Given the description of an element on the screen output the (x, y) to click on. 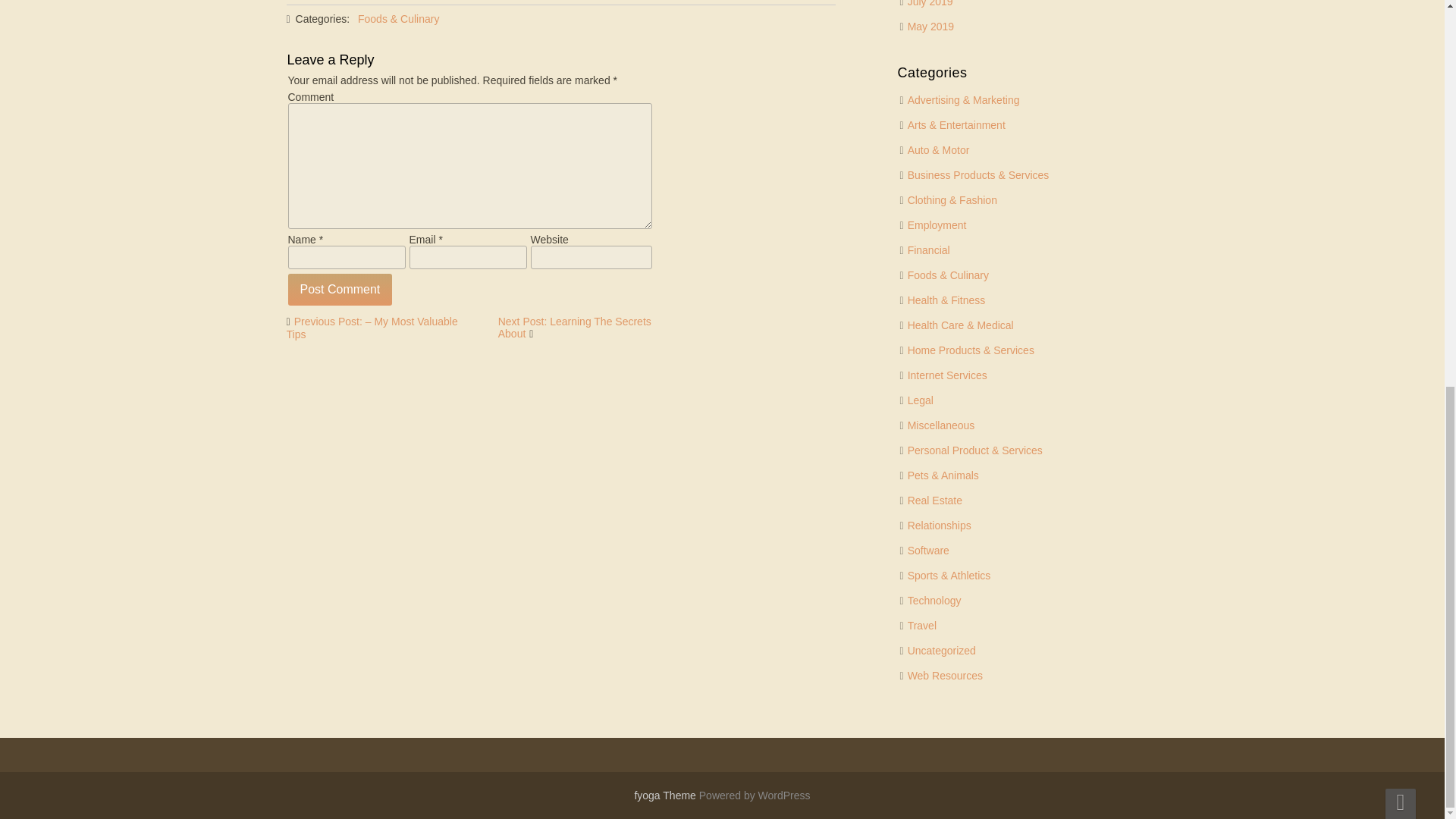
fyoga Theme (665, 795)
Post Comment (340, 289)
July 2019 (930, 3)
Post Comment (340, 289)
Next Post: Learning The Secrets About (573, 327)
May 2019 (930, 26)
